Given the description of an element on the screen output the (x, y) to click on. 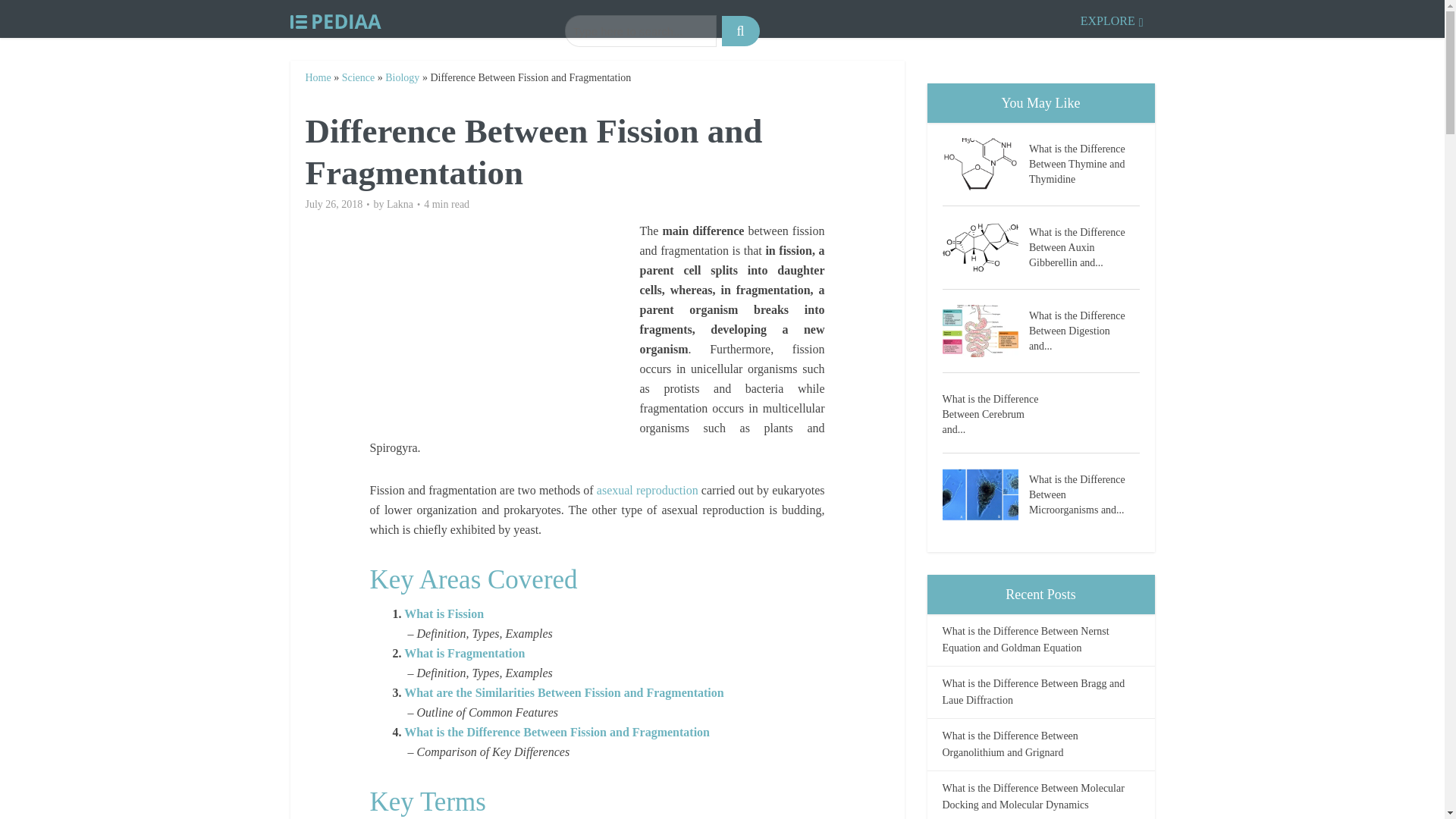
What is the Difference Between Digestion and Assimilation (984, 330)
What is Fission (443, 613)
What is the Difference Between Fission and Fragmentation (557, 731)
Science (358, 77)
Biology (402, 77)
What is the Difference Between Thymine and Thymidine (984, 164)
What is the Difference Between Thymine and Thymidine (1084, 162)
What is the Difference Between Digestion and Assimilation (1084, 328)
Lakna (400, 204)
asexual reproduction (647, 490)
What is Fragmentation (464, 653)
Type here to search... (640, 30)
Type here to search... (640, 30)
Home (317, 77)
